Given the description of an element on the screen output the (x, y) to click on. 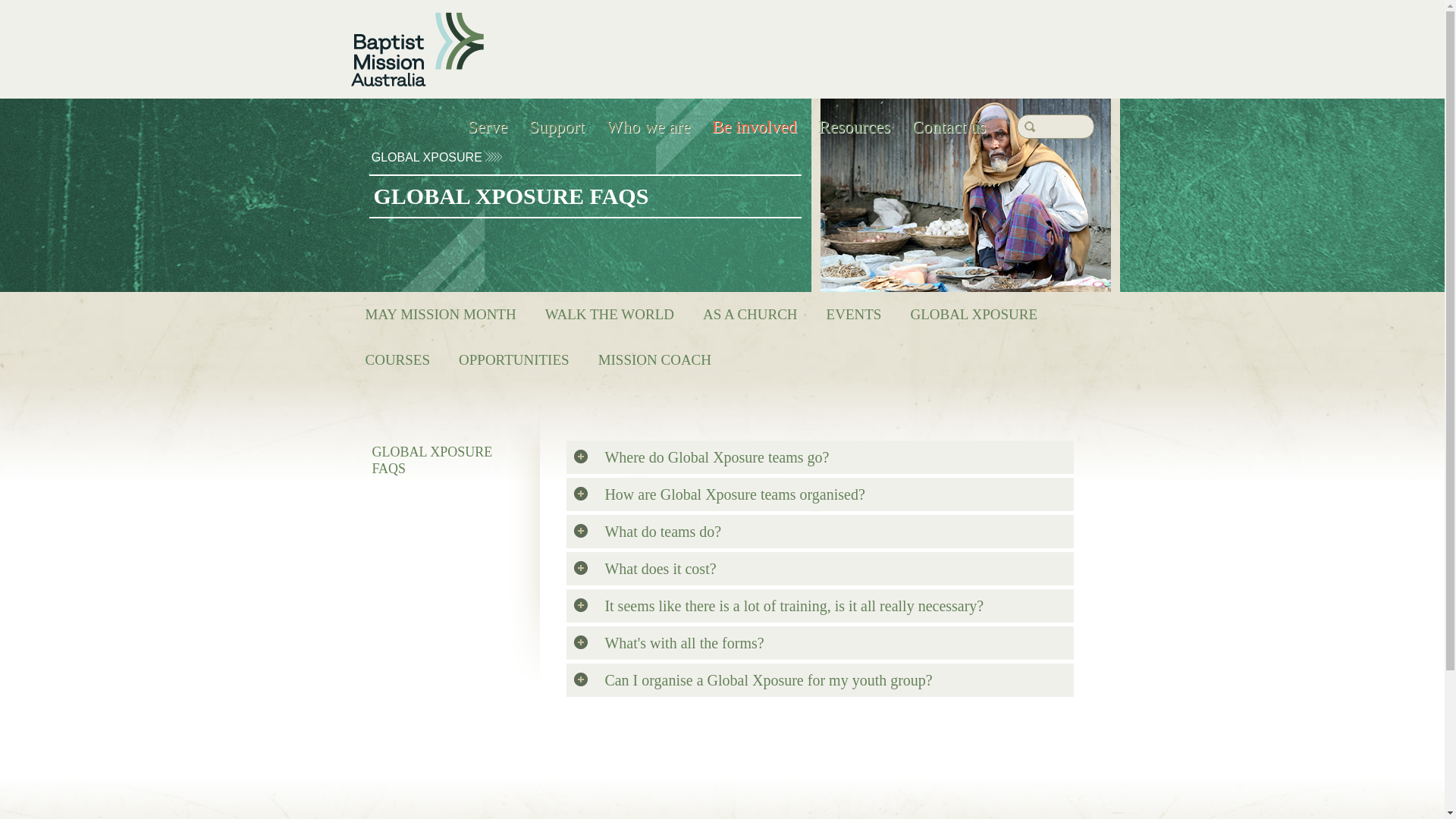
Support (556, 126)
Serve (487, 126)
